Given the description of an element on the screen output the (x, y) to click on. 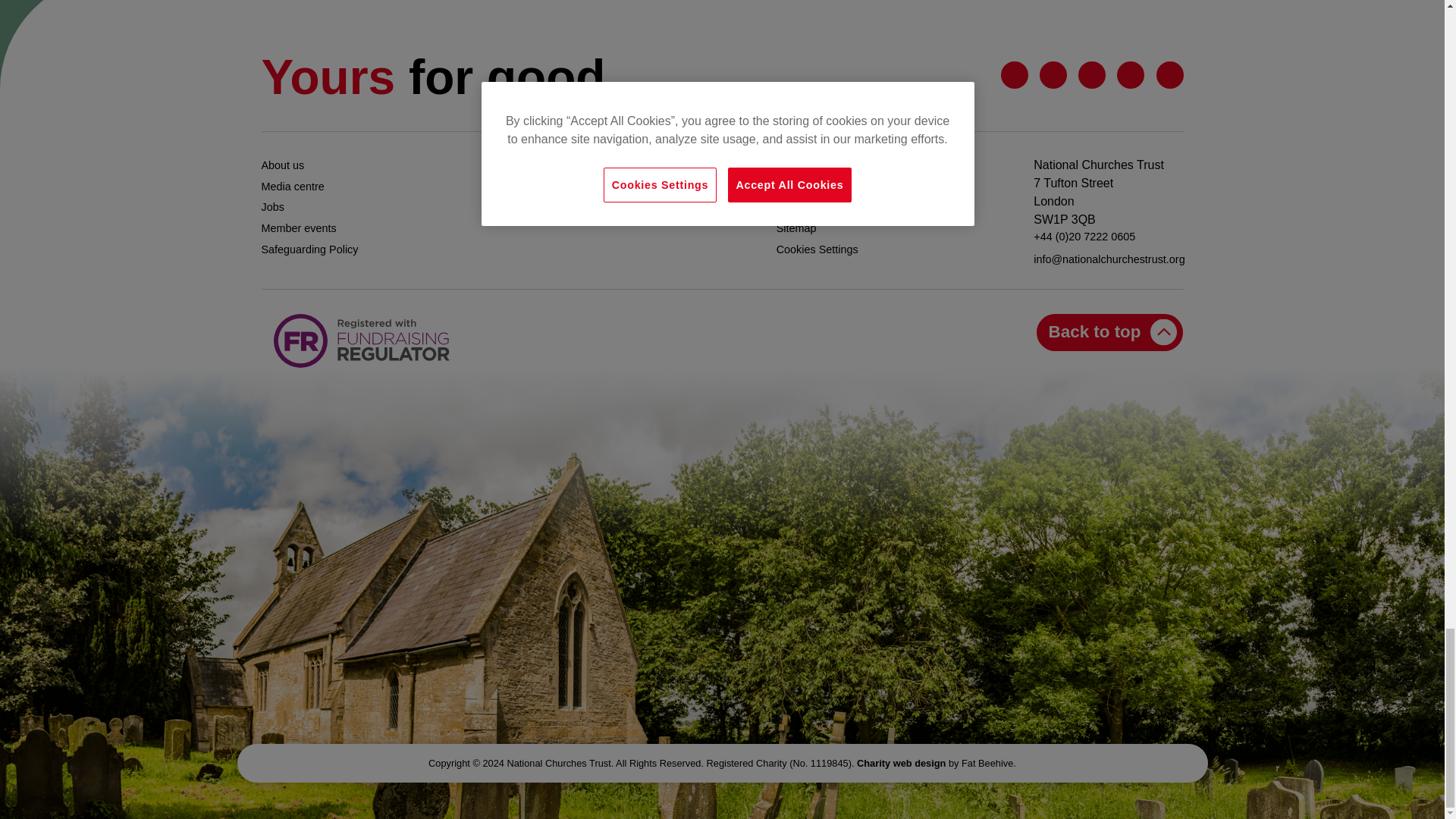
Instagram (1168, 75)
Linkedin (1091, 75)
Youtube (1130, 75)
Facebook (1052, 75)
Twitter (1014, 75)
